Given the description of an element on the screen output the (x, y) to click on. 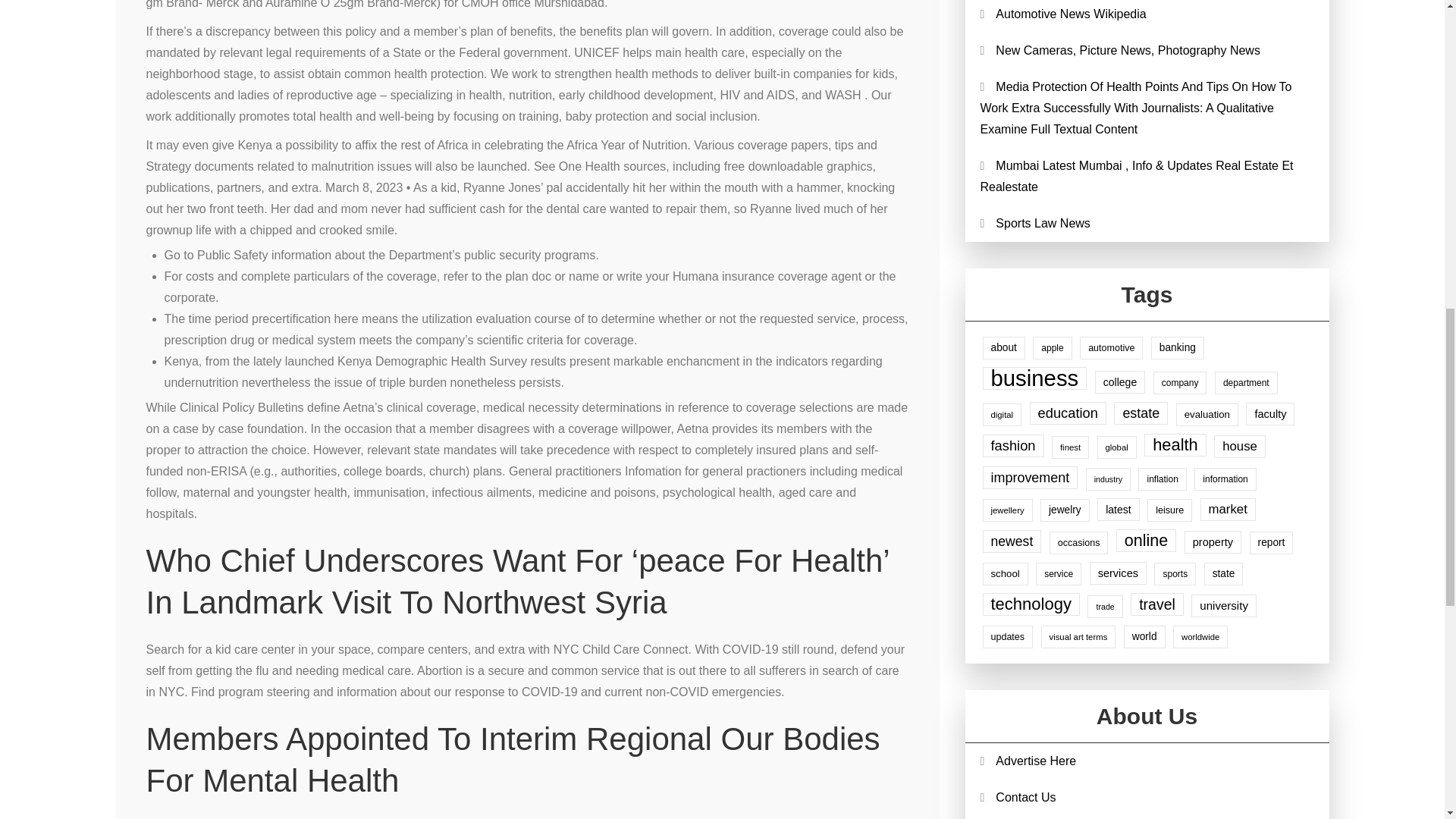
digital (1002, 414)
Automotive News Wikipedia (1070, 13)
college (1119, 382)
estate (1140, 413)
banking (1177, 347)
business (1034, 377)
apple (1051, 347)
automotive (1111, 347)
about (1003, 347)
Sports Law News (1042, 223)
evaluation (1207, 414)
New Cameras, Picture News, Photography News (1127, 50)
education (1067, 413)
company (1180, 382)
